Given the description of an element on the screen output the (x, y) to click on. 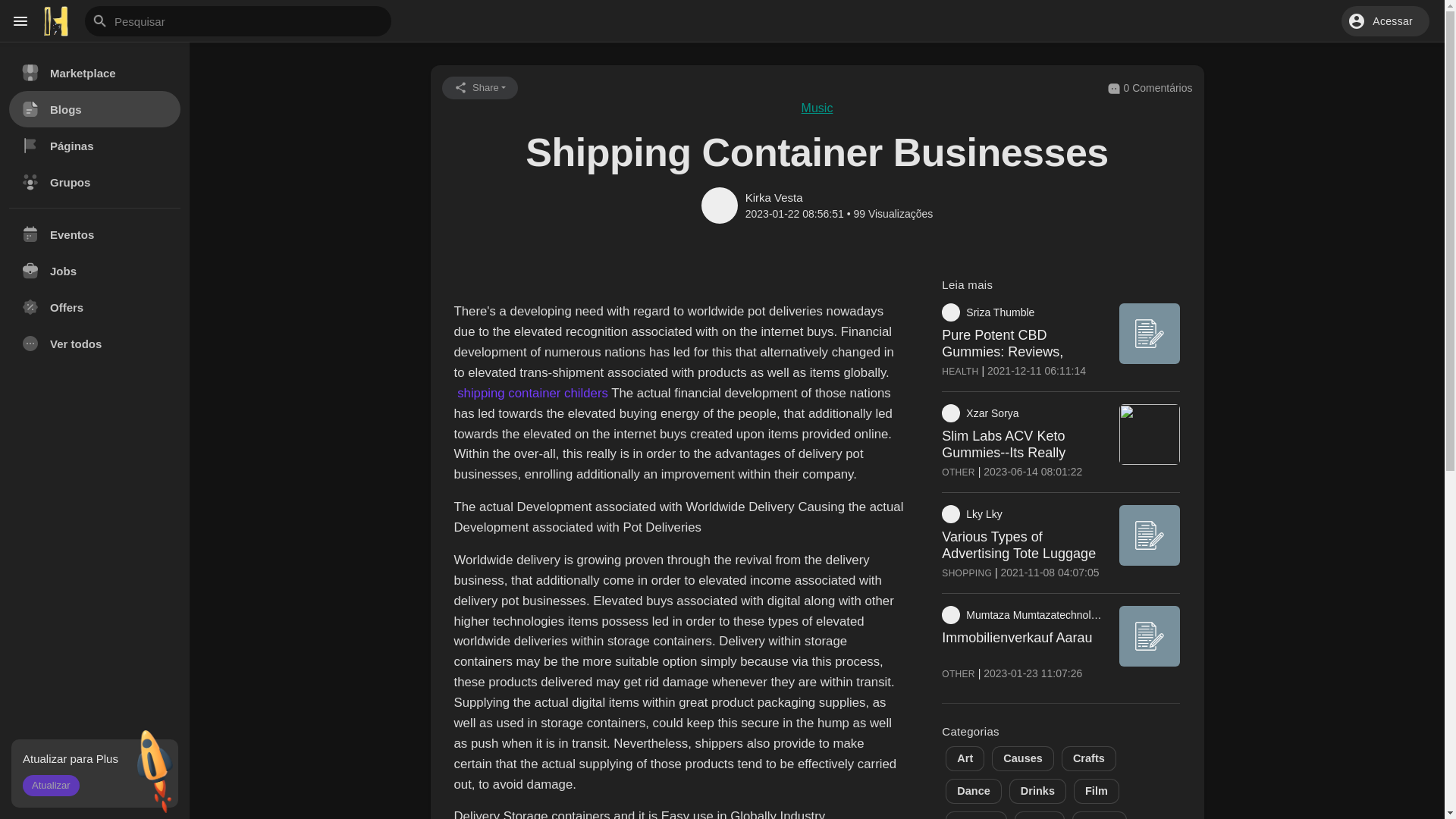
Acessar (1384, 20)
